Given the description of an element on the screen output the (x, y) to click on. 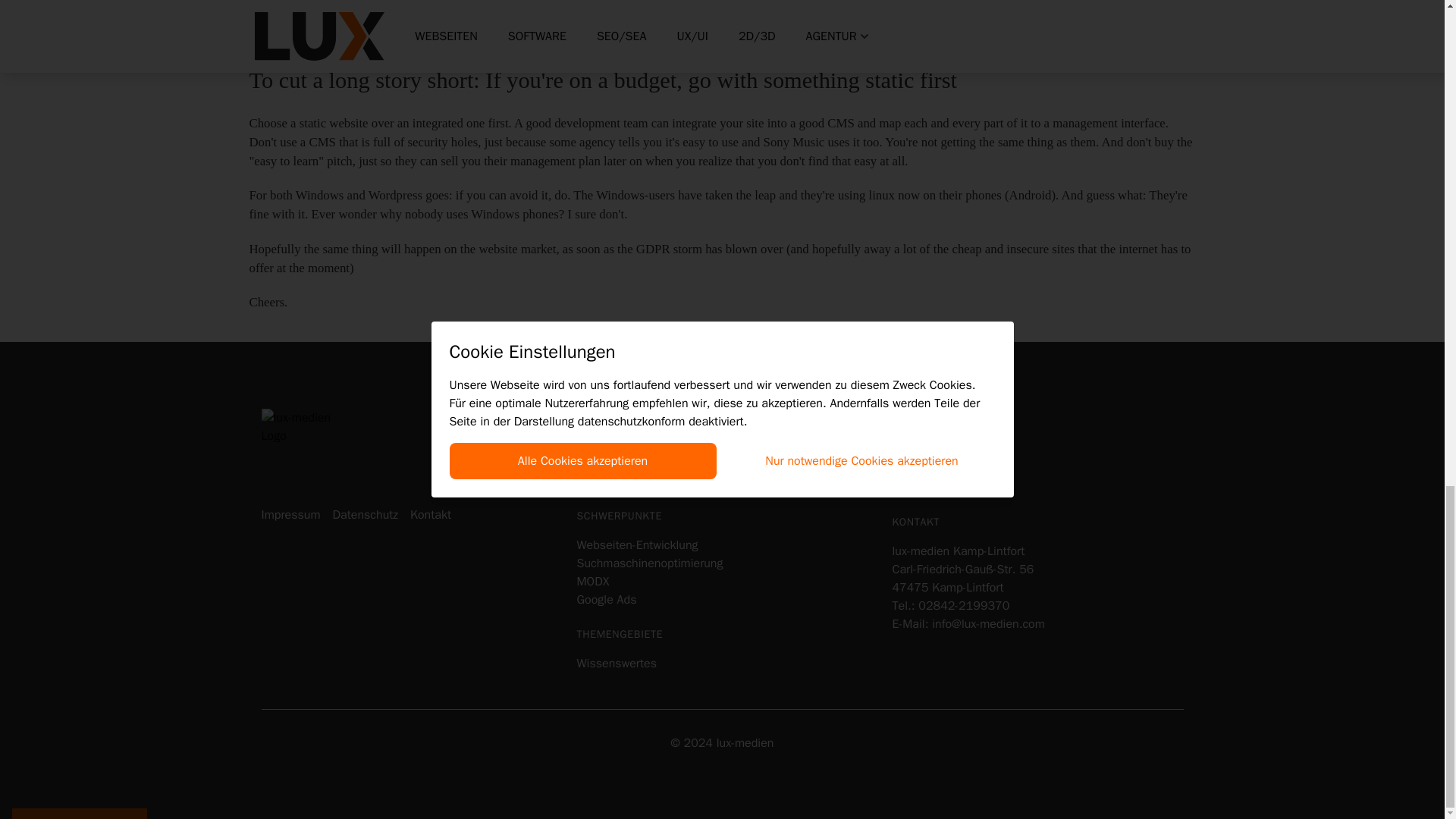
Blog (902, 462)
Google Ads (606, 599)
Wissenswertes (616, 663)
Datenschutz (364, 515)
Impressum (290, 515)
Werbeagentur Moers (630, 444)
Werbeagentur Duisburg (638, 462)
Webseiten-Entwicklung (636, 544)
MODX (592, 581)
Suchmaschinenoptimierung (649, 563)
SEO Agentur (609, 481)
FAQ (901, 481)
Kontakt (430, 515)
News (905, 444)
